Given the description of an element on the screen output the (x, y) to click on. 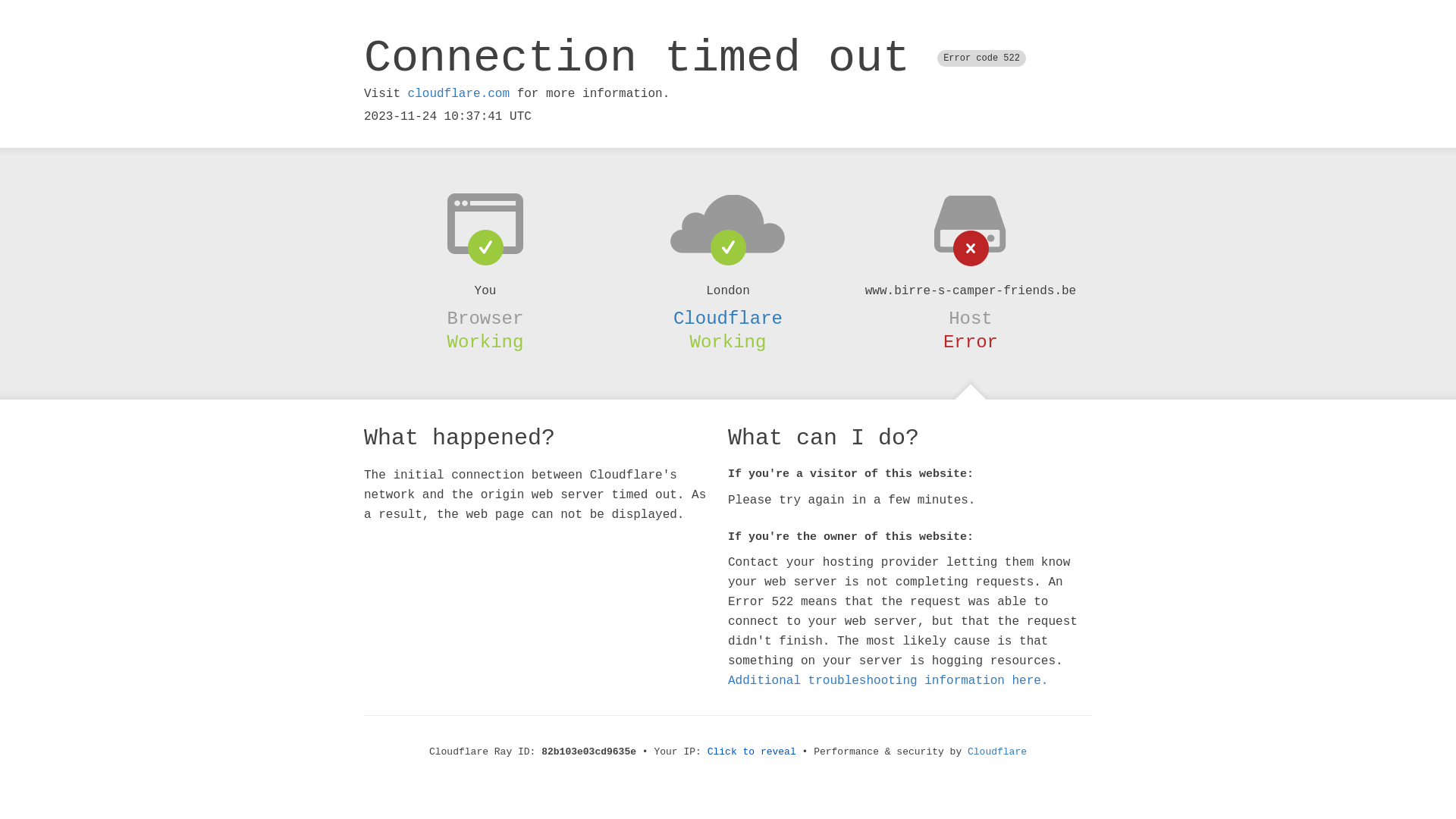
Cloudflare Element type: text (727, 318)
Click to reveal Element type: text (751, 751)
Additional troubleshooting information here. Element type: text (888, 680)
Cloudflare Element type: text (996, 751)
cloudflare.com Element type: text (458, 93)
